Given the description of an element on the screen output the (x, y) to click on. 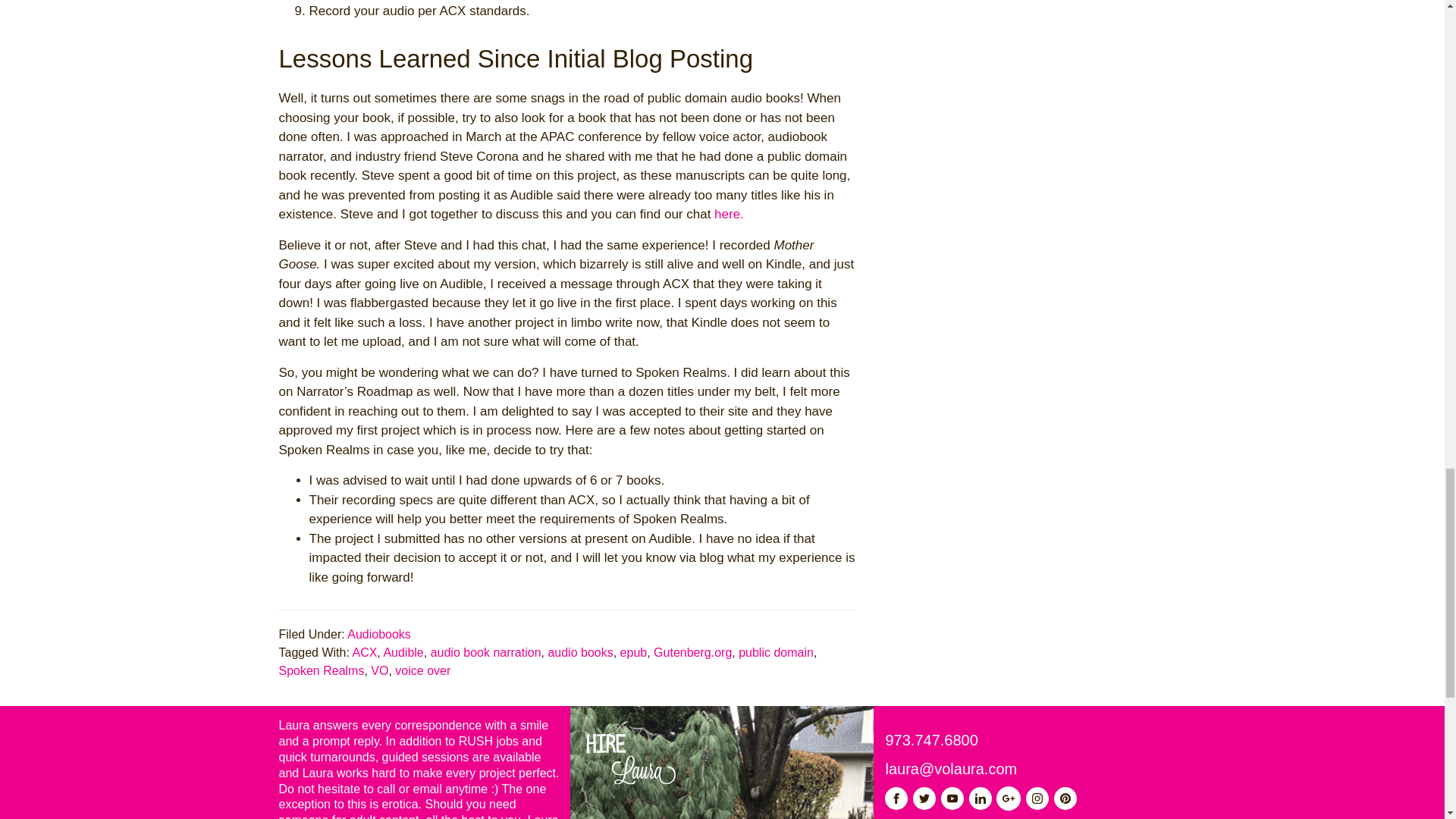
facebook (896, 798)
twitter (924, 798)
